Given the description of an element on the screen output the (x, y) to click on. 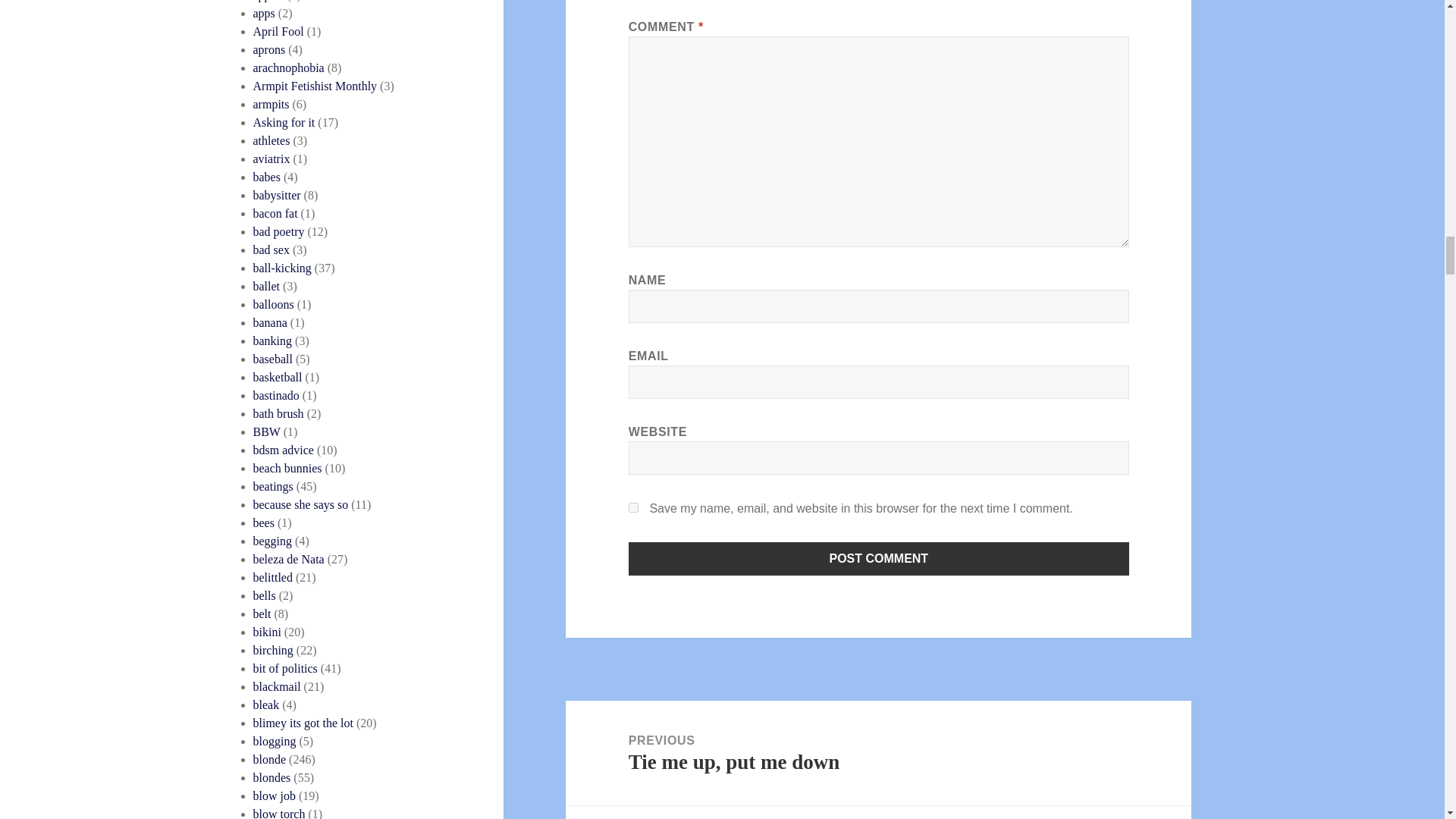
yes (633, 507)
Post Comment (878, 558)
